Given the description of an element on the screen output the (x, y) to click on. 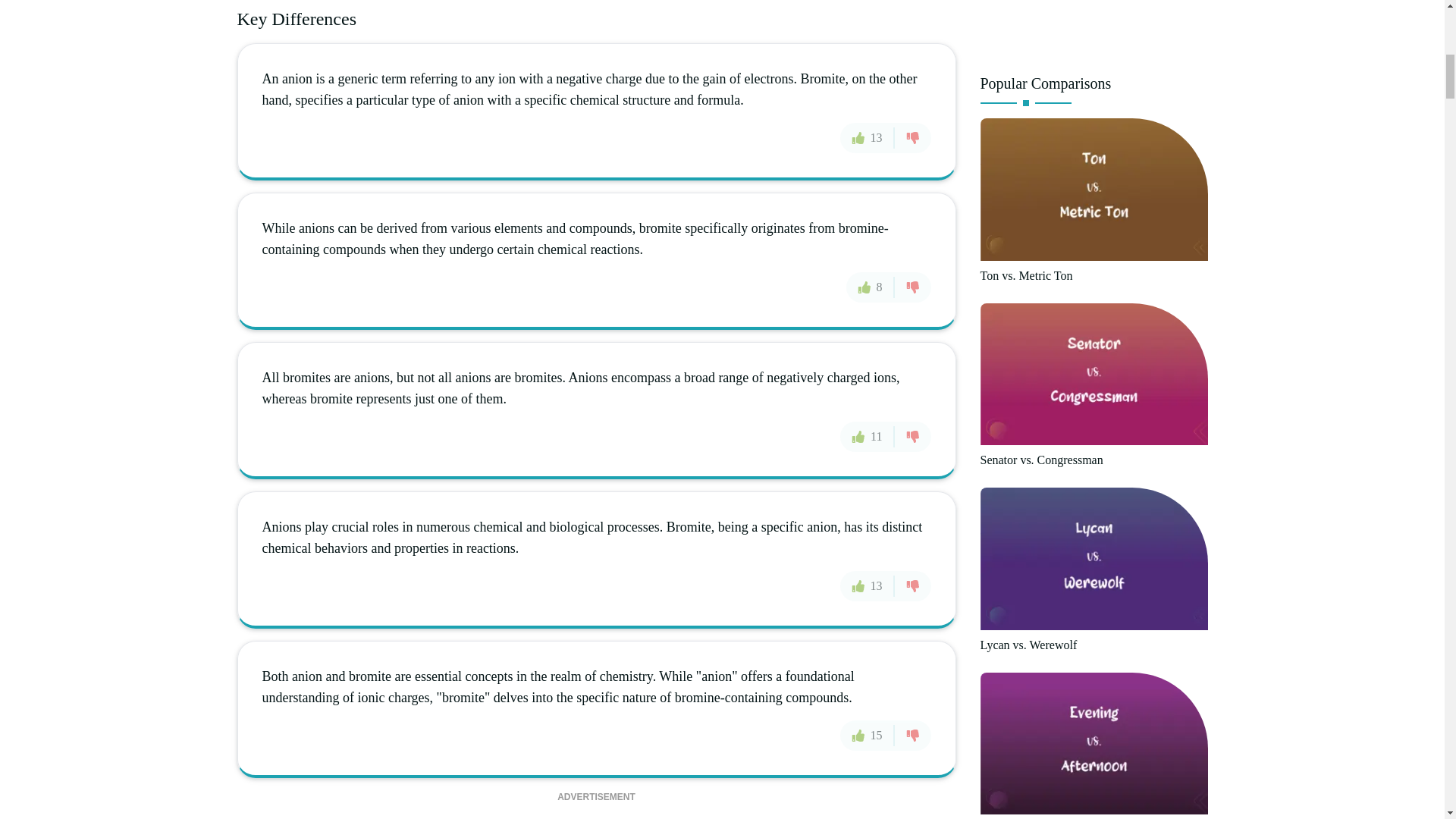
13 (867, 137)
15 (867, 735)
8 (870, 286)
11 (866, 436)
Advertisement (1093, 30)
13 (867, 585)
